Given the description of an element on the screen output the (x, y) to click on. 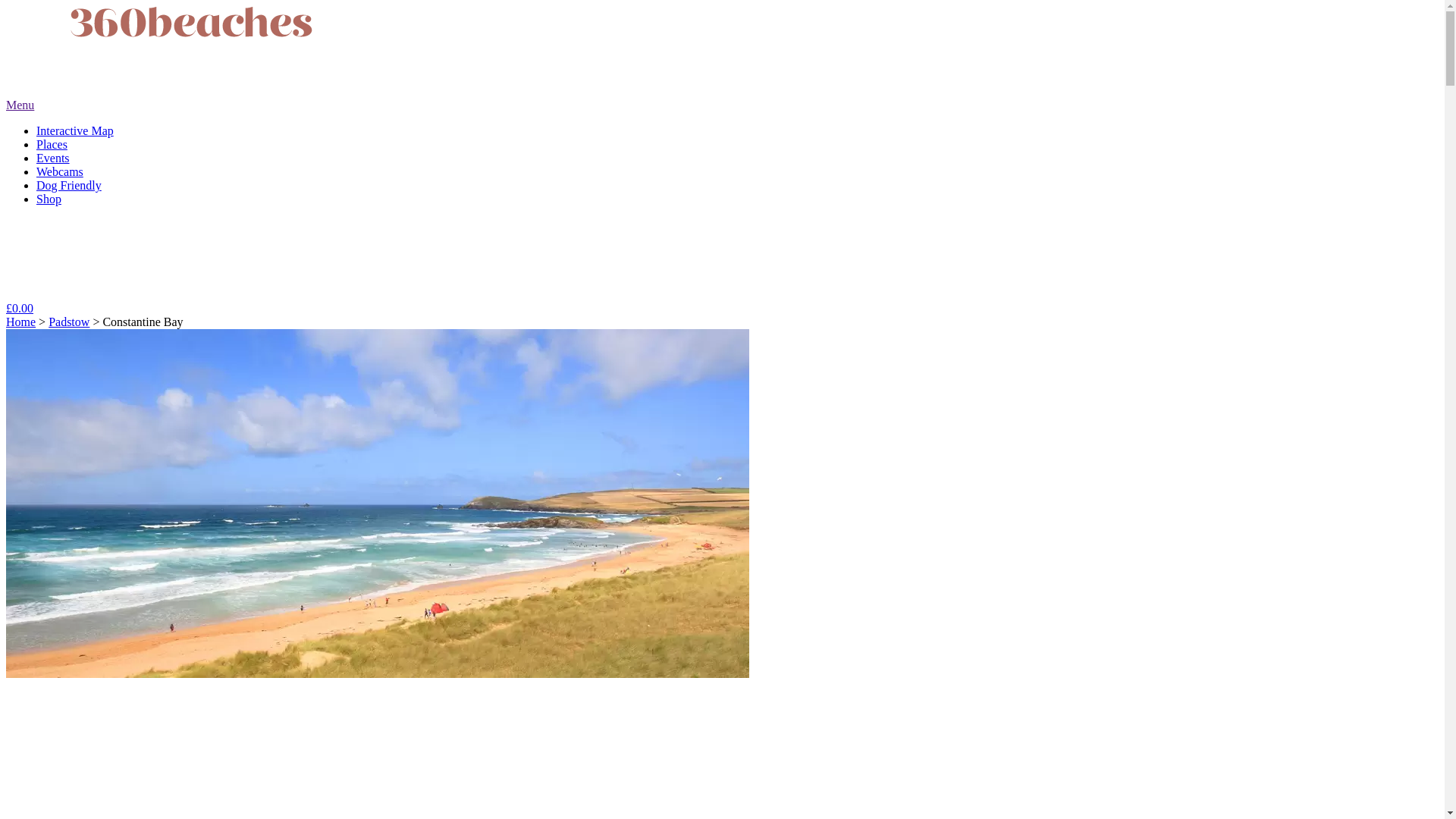
Webcams Element type: text (59, 171)
View Cart Element type: hover (55, 289)
Find us on Facebook Element type: hover (77, 240)
Interactive Map Element type: text (74, 130)
Places Element type: text (51, 144)
Home Element type: text (20, 321)
Dog Friendly Element type: text (68, 184)
Shop Element type: text (48, 198)
Menu Element type: text (20, 104)
Follow us on Instagram Element type: hover (28, 240)
Events Element type: text (52, 157)
360 Beaches Element type: hover (195, 50)
Padstow Element type: text (68, 321)
